Given the description of an element on the screen output the (x, y) to click on. 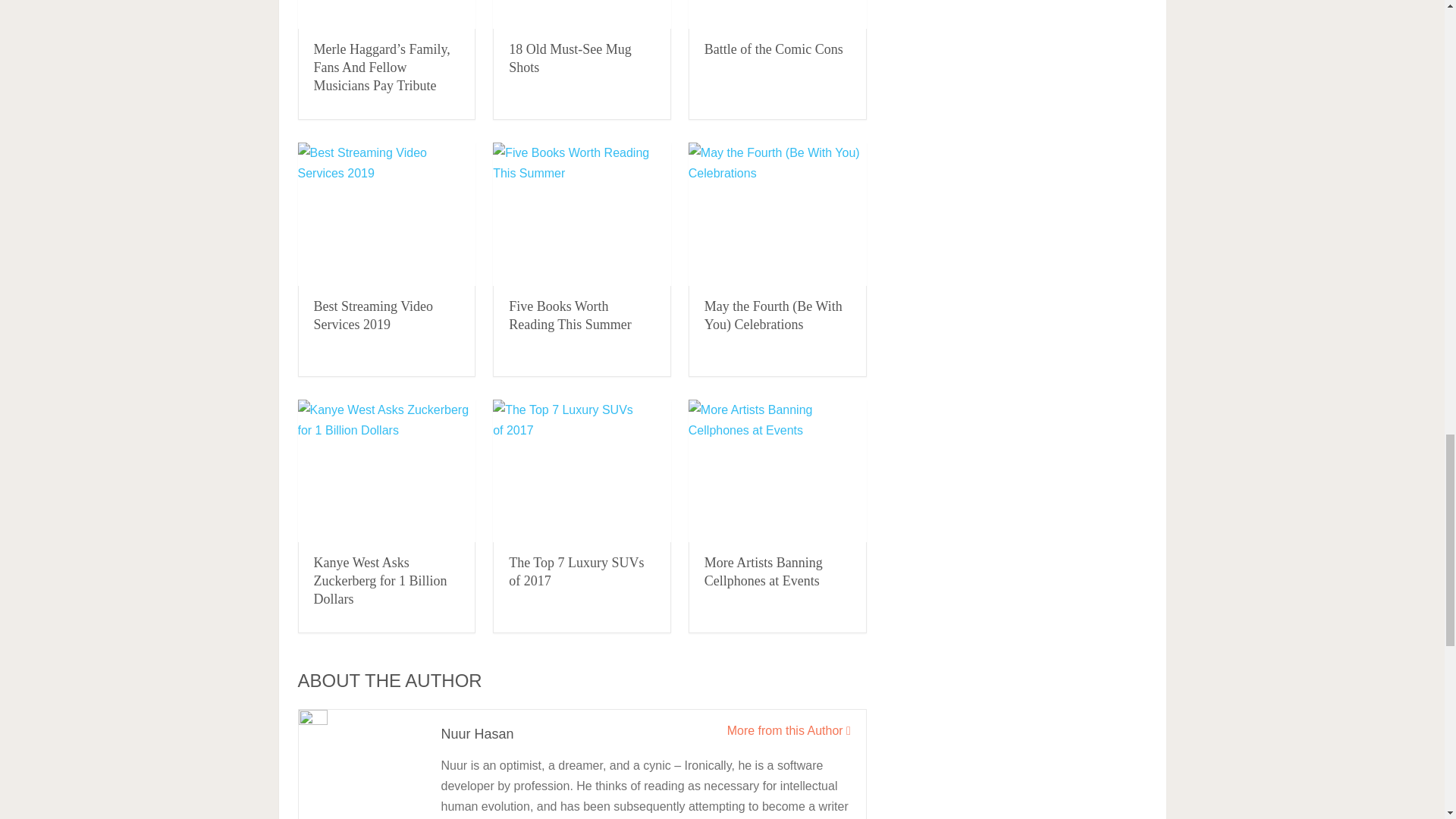
Battle of the Comic Cons (773, 48)
Five Books Worth Reading This Summer (582, 213)
18 Old Must-See Mug Shots (569, 58)
Battle of the Comic Cons (777, 14)
Best Streaming Video Services 2019 (373, 315)
Battle of the Comic Cons (773, 48)
18 Old Must-See Mug Shots (569, 58)
Best Streaming Video Services 2019 (386, 213)
Five Books Worth Reading This Summer (569, 315)
18 Old Must-See Mug Shots (582, 14)
